Given the description of an element on the screen output the (x, y) to click on. 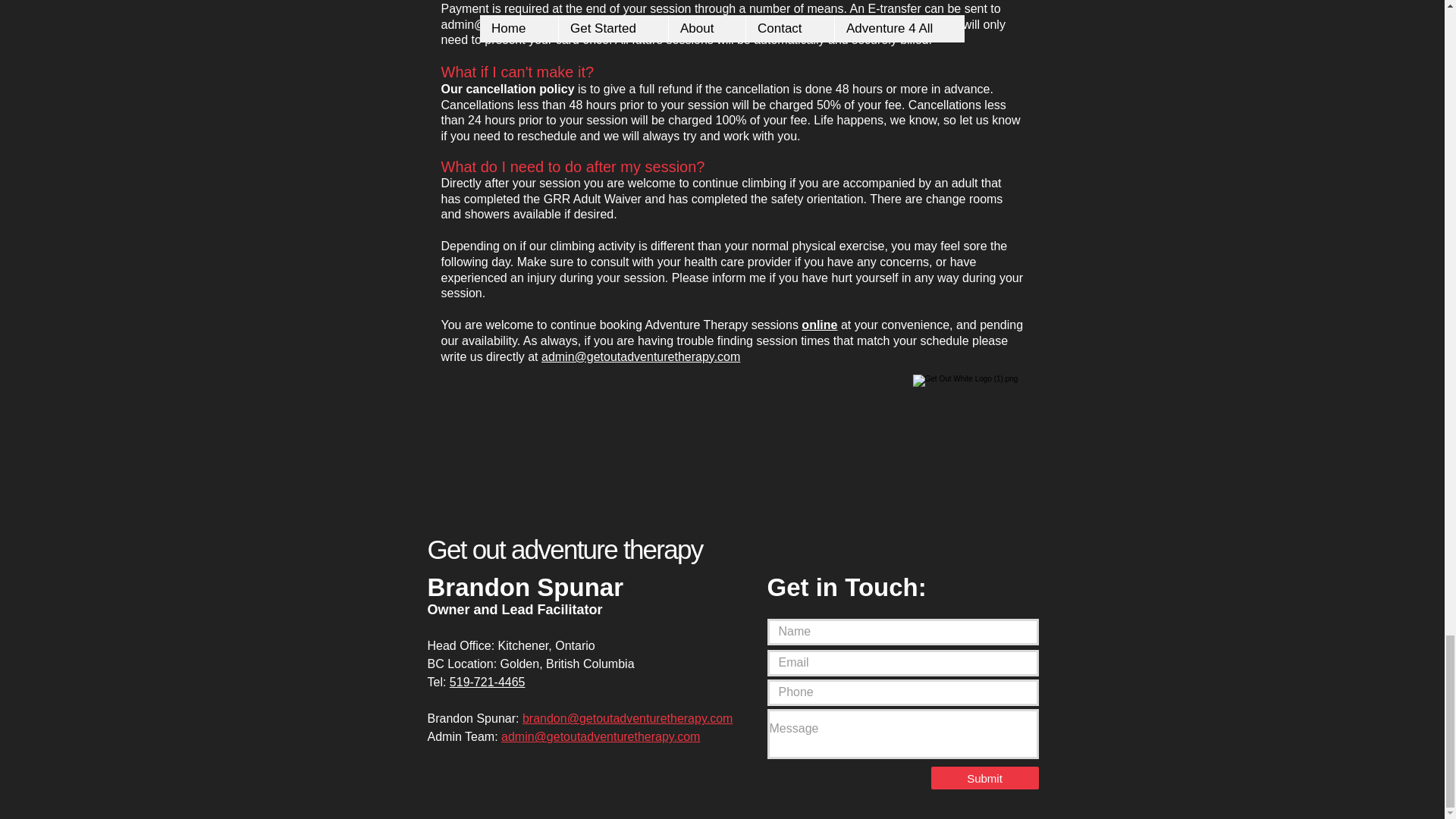
Submit (985, 777)
519-721-4465 (487, 681)
online (819, 324)
